Given the description of an element on the screen output the (x, y) to click on. 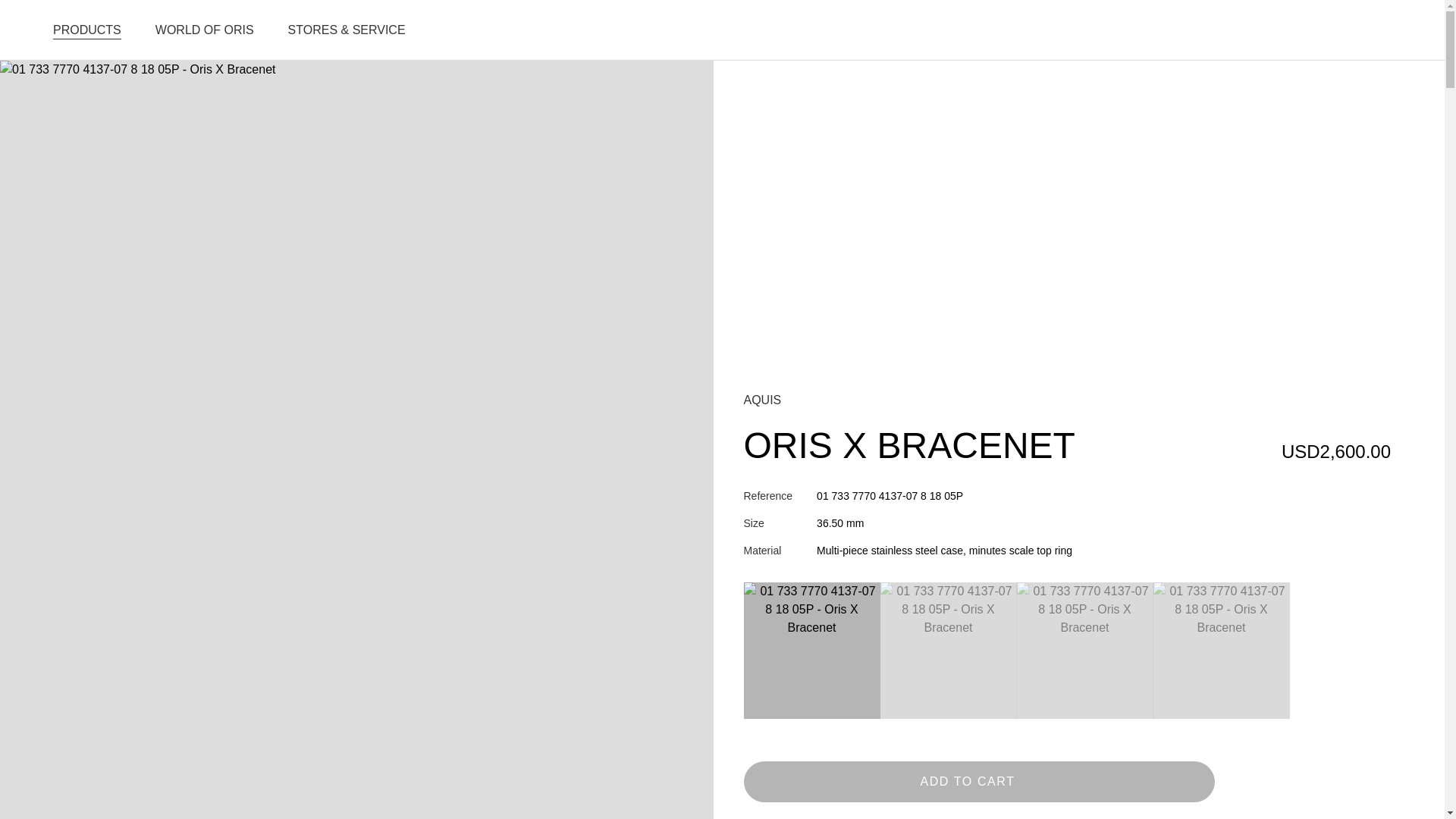
WORLD OF ORIS (204, 30)
ADD TO CART (978, 781)
Go to homepage (722, 30)
PRODUCTS (86, 30)
Watch Finder (1285, 30)
MyOris (1382, 30)
Cart (1333, 30)
